Given the description of an element on the screen output the (x, y) to click on. 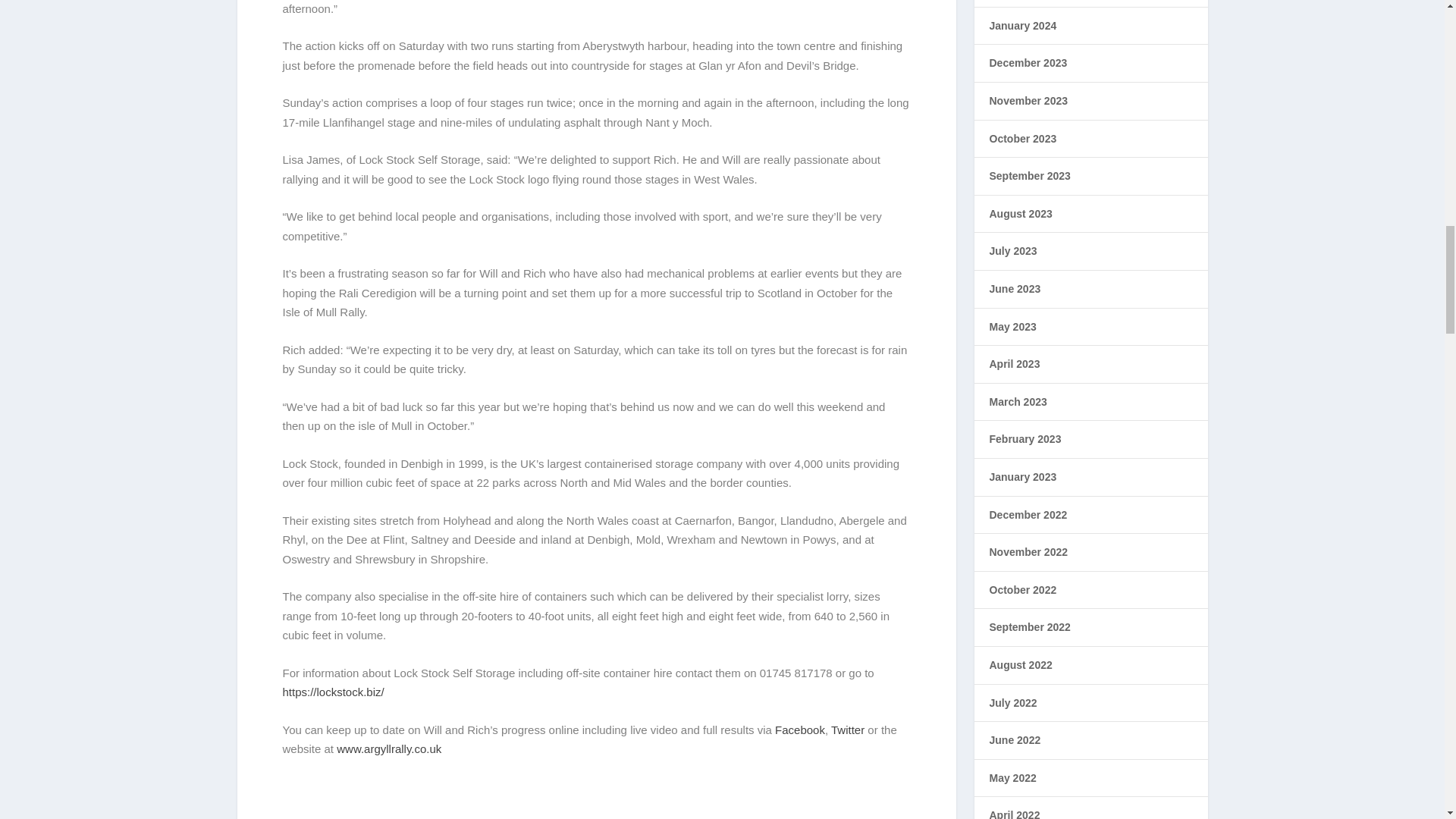
Facebook (799, 729)
Twitter (847, 729)
www.argyllrally.co.uk (388, 748)
